Given the description of an element on the screen output the (x, y) to click on. 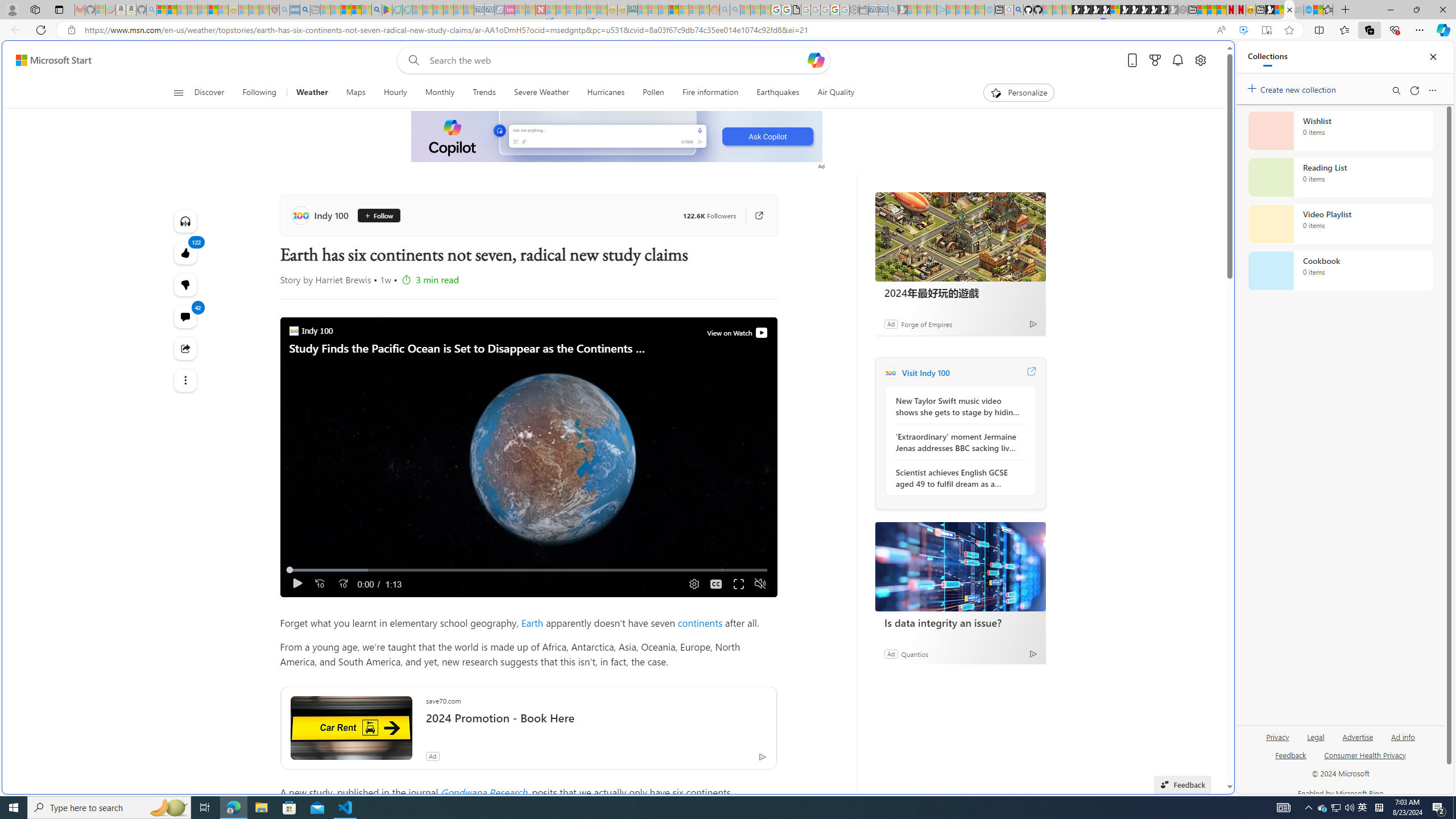
Trends (484, 92)
Is data integrity an issue? (959, 622)
World - MSN (1279, 9)
Air Quality (835, 92)
Terms of Use Agreement - Sleeping (397, 9)
View comments 42 Comment (184, 316)
Quantios (914, 653)
